Given the description of an element on the screen output the (x, y) to click on. 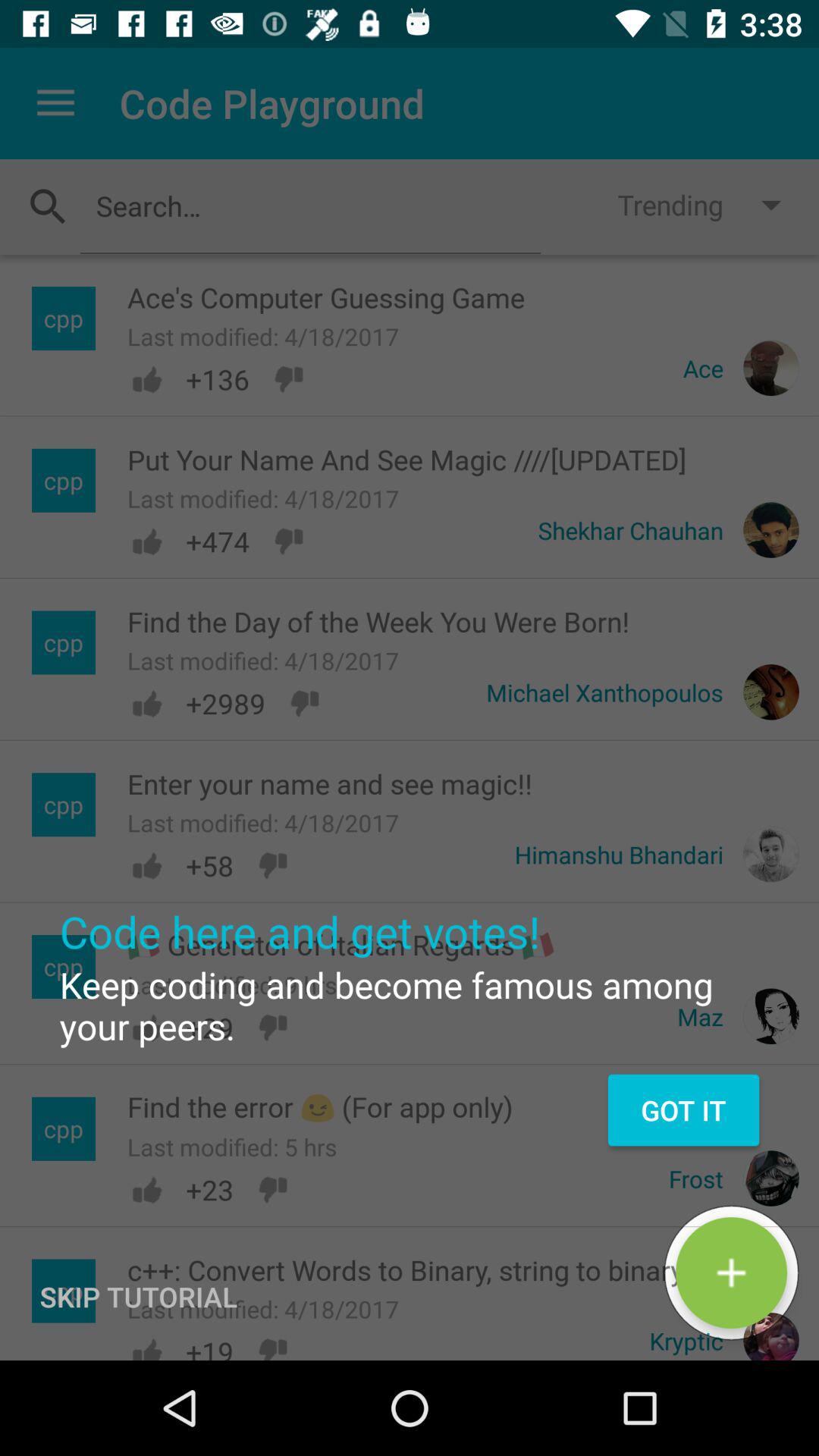
launch the icon above ace s computer item (310, 205)
